Given the description of an element on the screen output the (x, y) to click on. 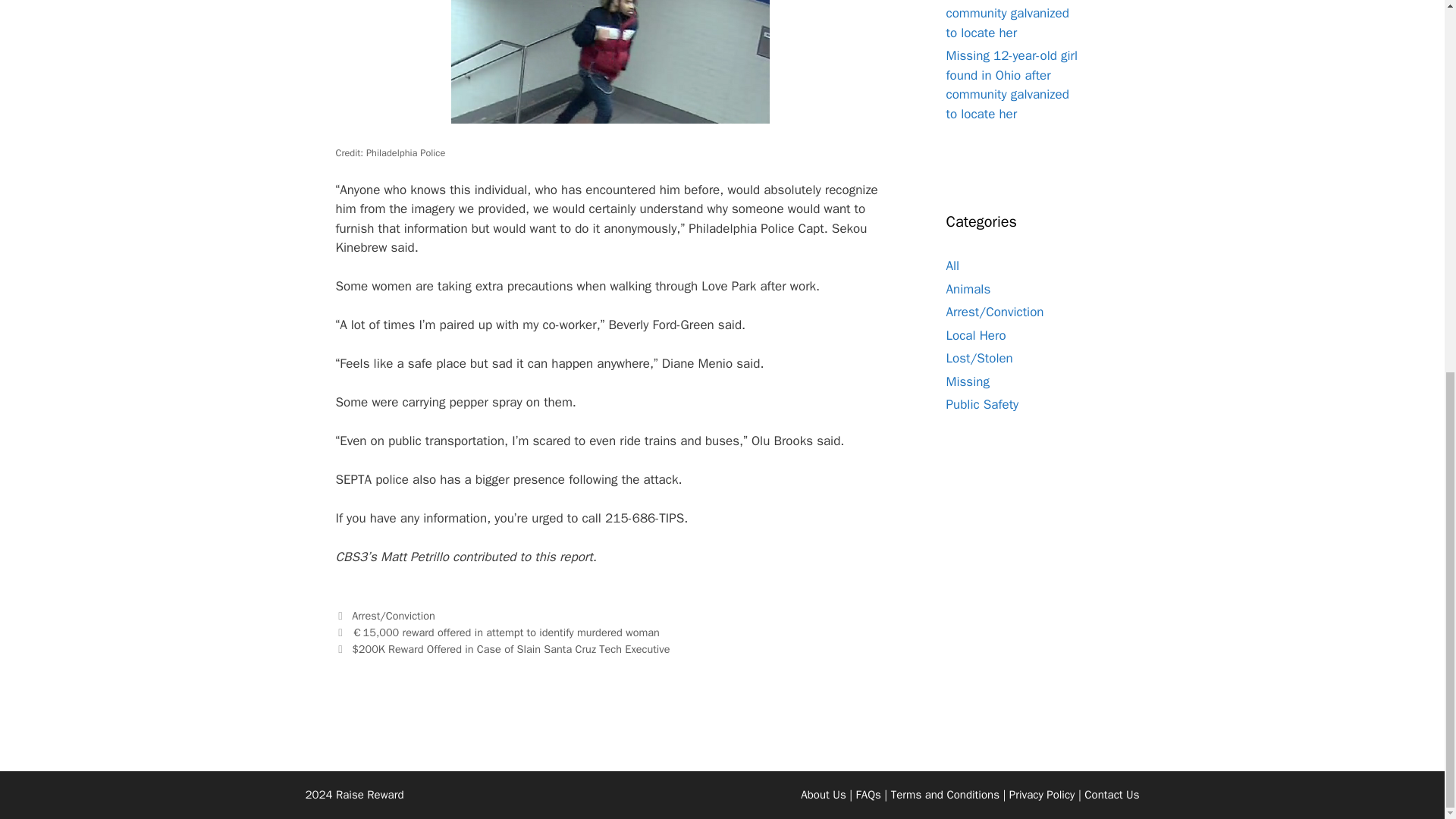
Local Hero (976, 335)
Animals (968, 288)
Public Safety (982, 404)
Missing (968, 381)
